Given the description of an element on the screen output the (x, y) to click on. 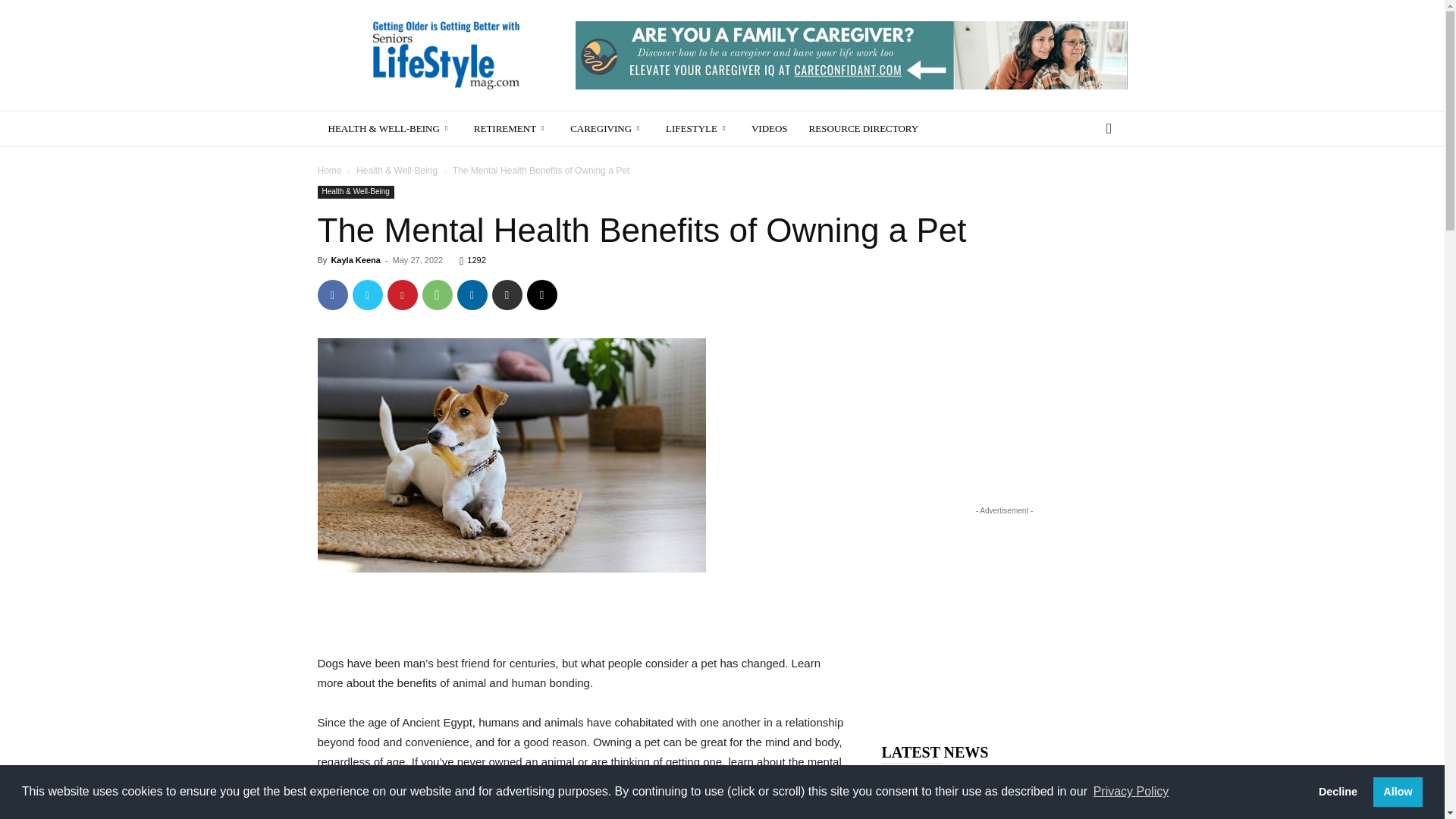
Decline (1337, 791)
Privacy Policy (1130, 791)
Allow (1397, 791)
